Given the description of an element on the screen output the (x, y) to click on. 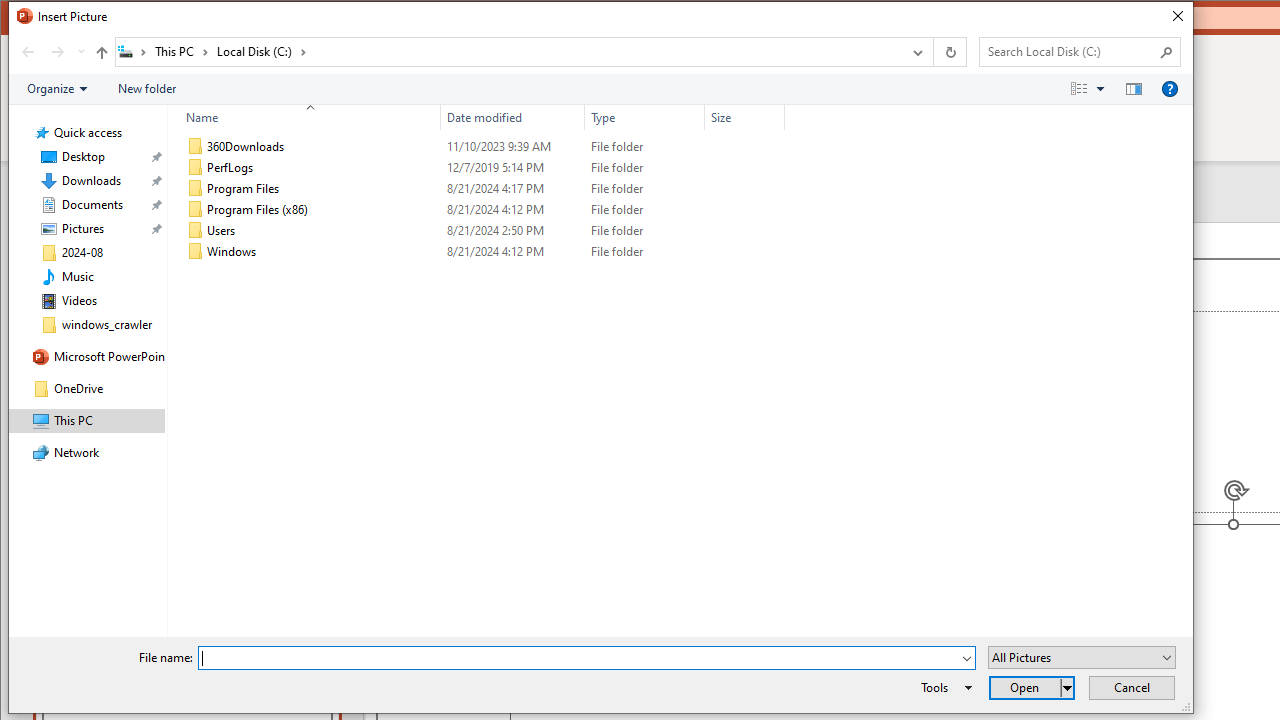
Recent locations (80, 51)
Previous Locations (916, 51)
Filter dropdown (776, 117)
Type (644, 251)
Command Module (600, 89)
Address band toolbar (932, 51)
Search Box (1069, 51)
Tools (943, 687)
360Downloads (481, 146)
Back (Alt + Left Arrow) (27, 51)
Up to "This PC" (Alt + Up Arrow) (101, 52)
PerfLogs (481, 167)
Class: UIImage (195, 251)
